Given the description of an element on the screen output the (x, y) to click on. 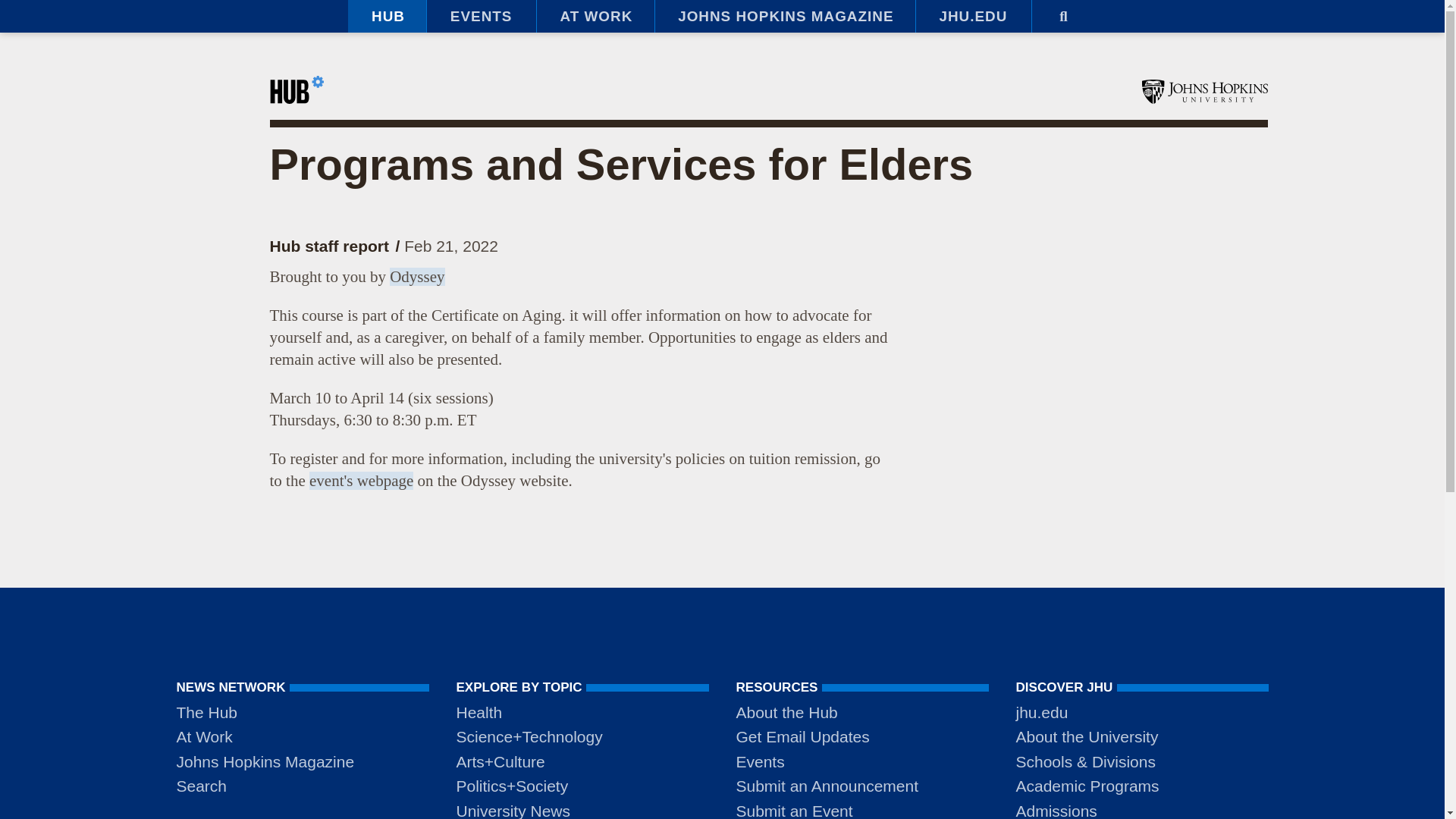
JHU.EDU (972, 16)
HUB (386, 16)
AT WORK (594, 16)
JOHNS HOPKINS MAGAZINE (784, 16)
EVENTS (480, 16)
Johns Hopkins University (1204, 91)
Odyssey (417, 276)
